Given the description of an element on the screen output the (x, y) to click on. 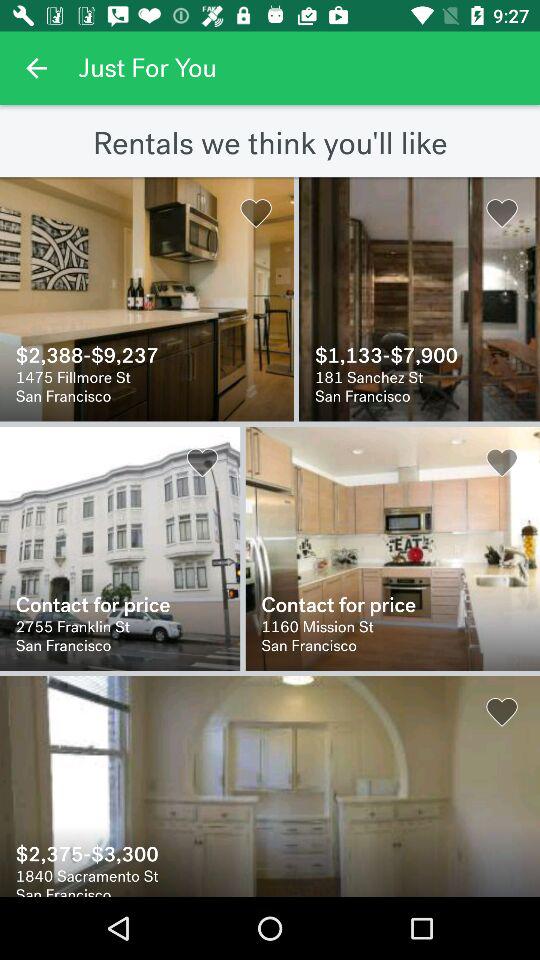
previous the app (36, 68)
